Given the description of an element on the screen output the (x, y) to click on. 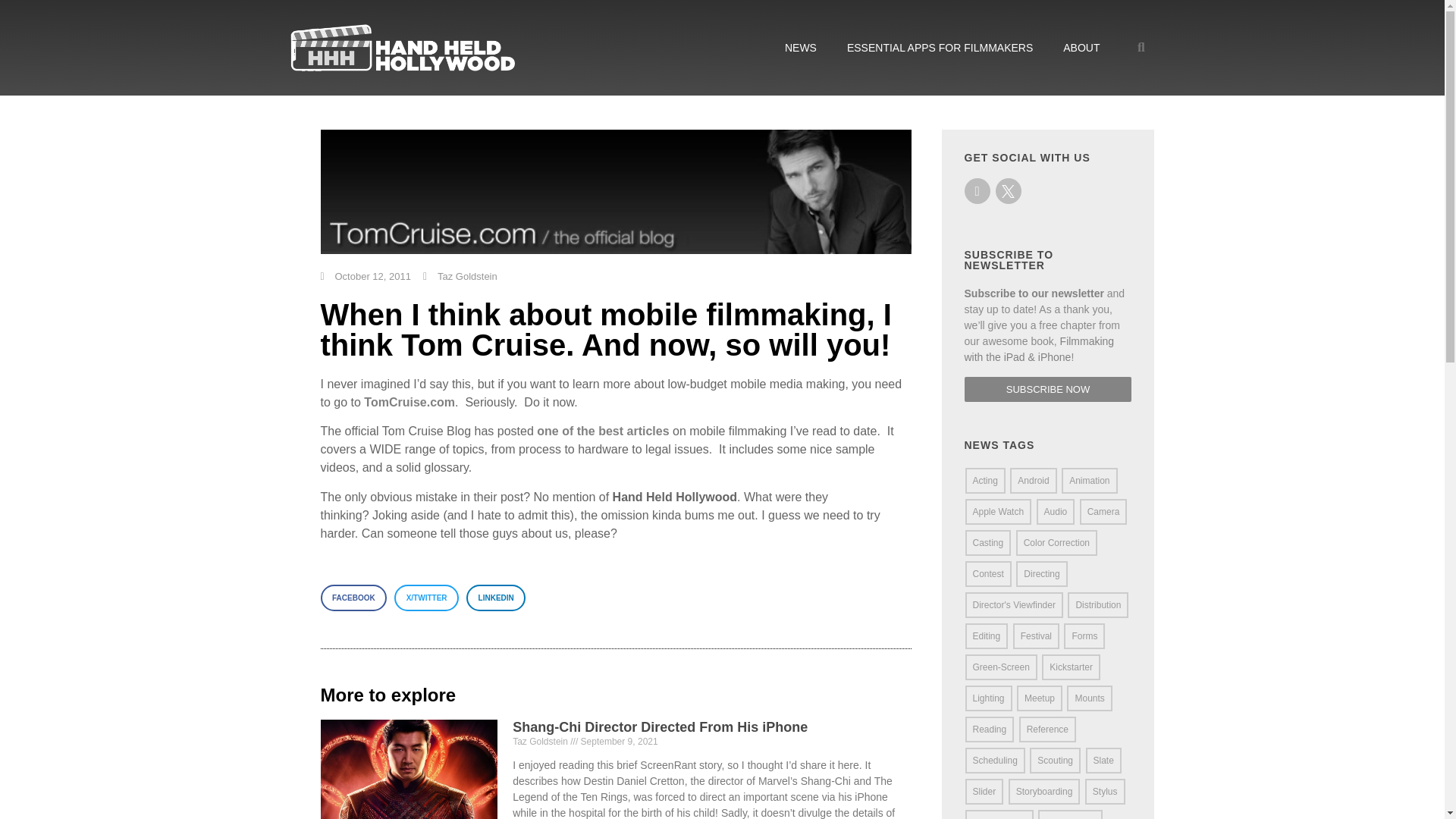
Acting (983, 480)
Animation (1088, 480)
Audio (1055, 511)
Android (1033, 480)
Shang-Chi Director Directed From His iPhone (660, 726)
ESSENTIAL APPS FOR FILMMAKERS (939, 47)
SUBSCRIBE NOW (1047, 389)
NEWS (800, 47)
one of the best articles (602, 431)
ABOUT (1081, 47)
